Given the description of an element on the screen output the (x, y) to click on. 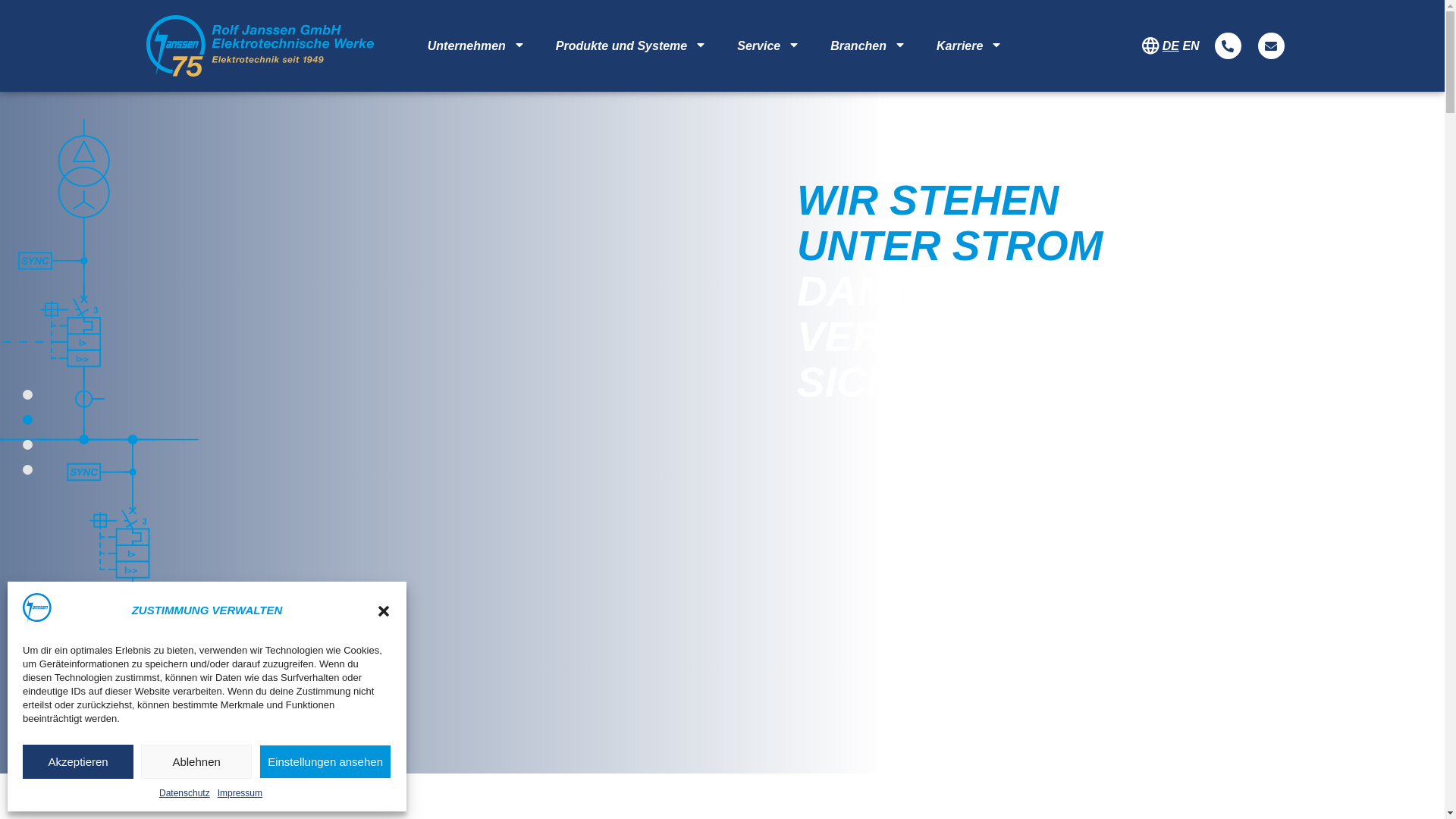
German (1170, 45)
English (1190, 45)
Akzeptieren (78, 761)
Ablehnen (196, 761)
Einstellungen ansehen (325, 761)
